Given the description of an element on the screen output the (x, y) to click on. 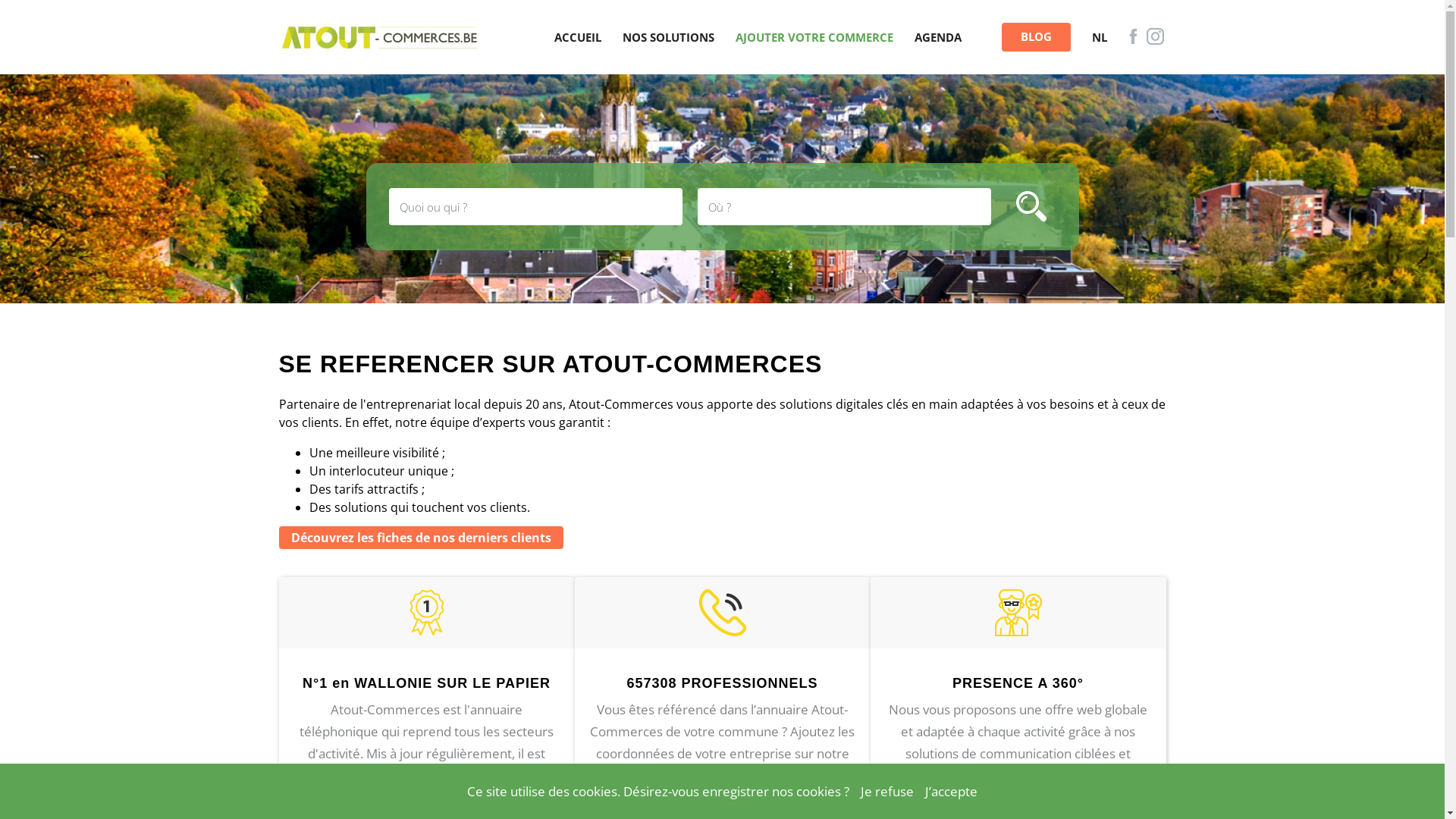
AGENDA Element type: text (937, 37)
NOS SOLUTIONS Element type: text (667, 37)
BLOG Element type: text (1035, 36)
ACCUEIL Element type: text (576, 37)
NL Element type: text (1099, 37)
Je refuse Element type: text (886, 791)
AJOUTER VOTRE COMMERCE Element type: text (814, 37)
